Given the description of an element on the screen output the (x, y) to click on. 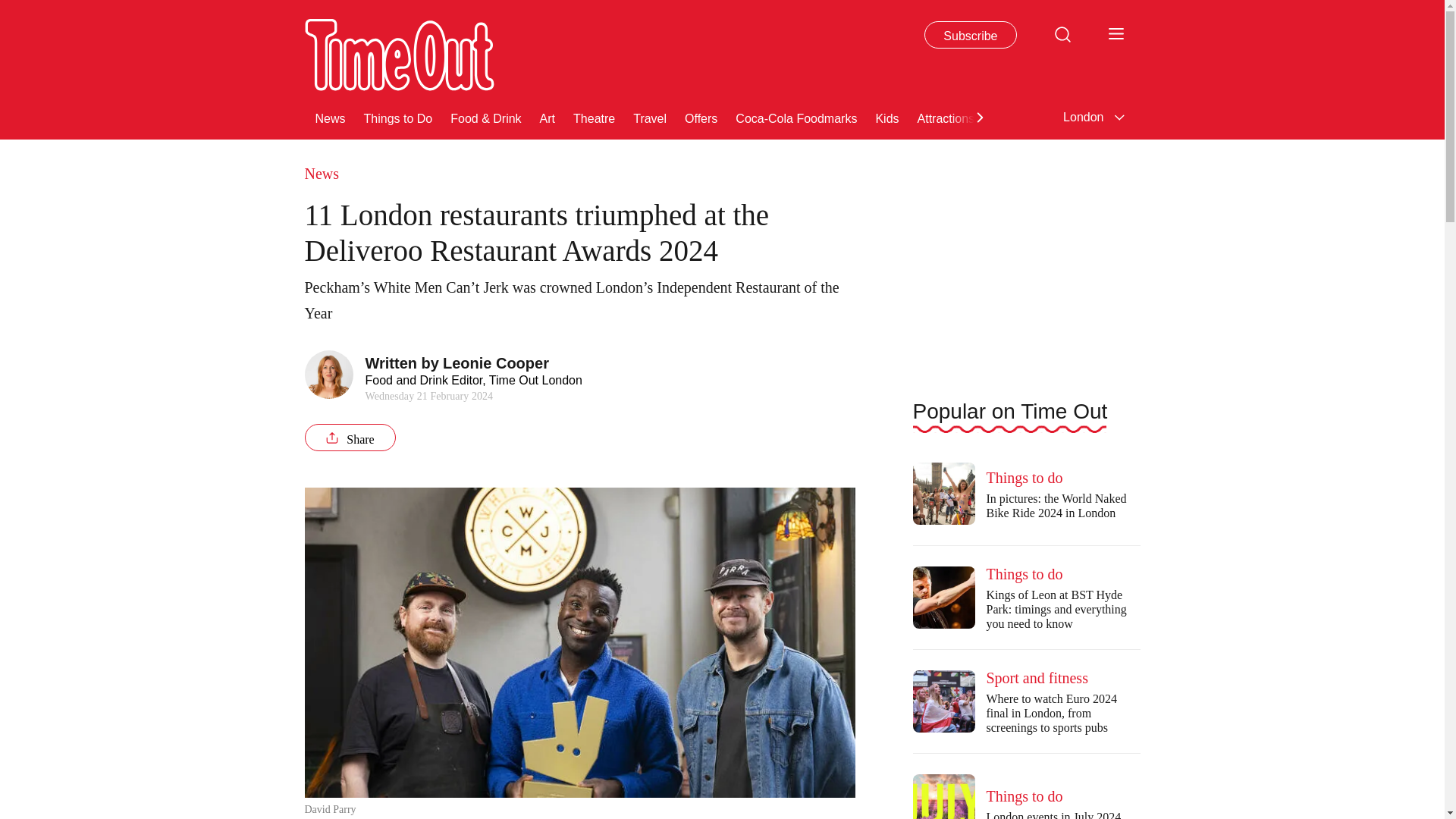
Museums (1018, 116)
Coca-Cola Foodmarks (796, 116)
Search (1061, 33)
Nightlife (1176, 116)
Offers (700, 116)
3rd party ad content (1026, 257)
Subscribe (970, 34)
News (330, 116)
Attractions (945, 116)
Go to the content (10, 7)
Things to Do (397, 116)
Travel (649, 116)
Feeling Spontaneous? (1329, 116)
